Given the description of an element on the screen output the (x, y) to click on. 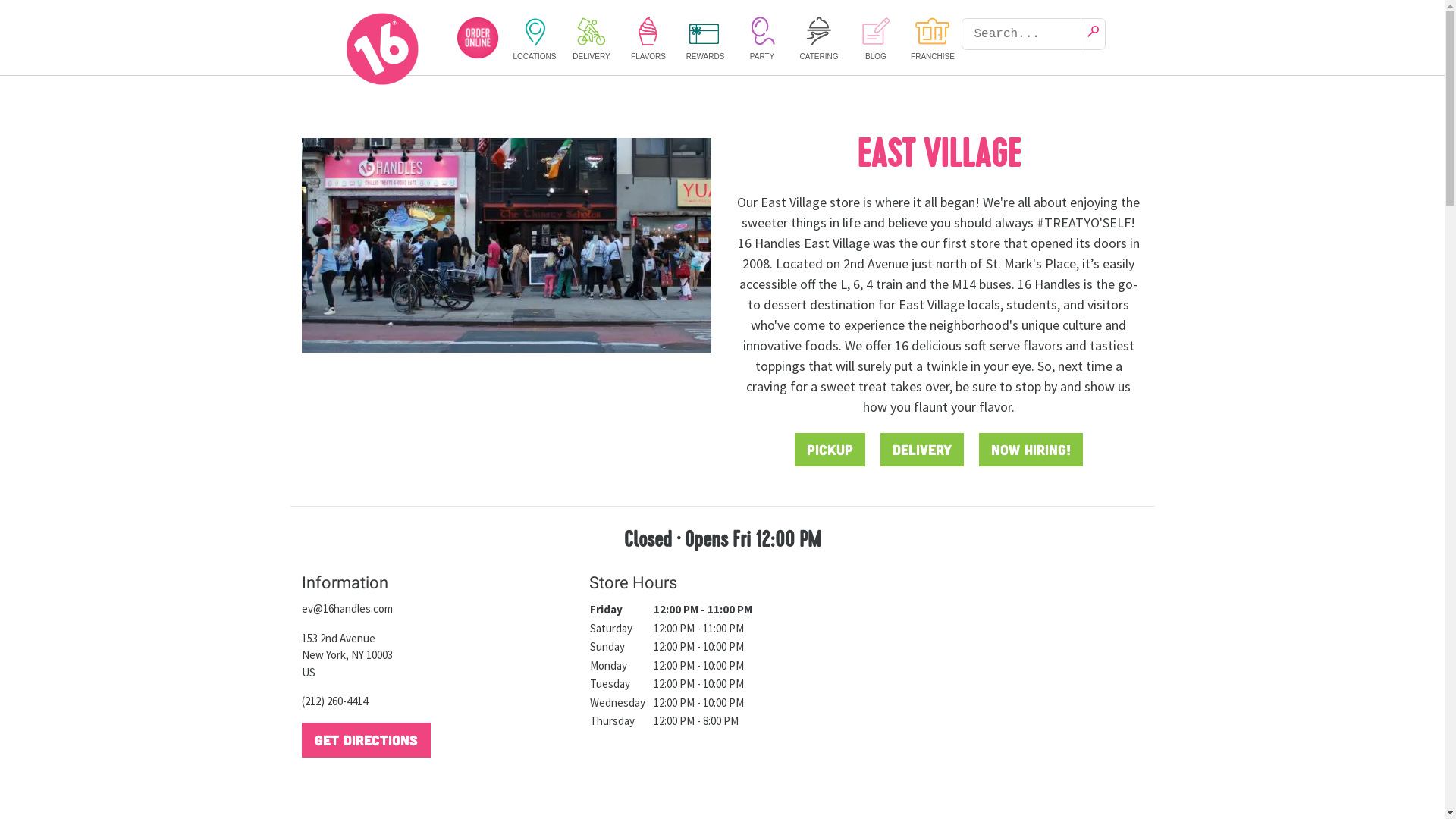
DELIVERY Element type: text (590, 37)
FRANCHISE Element type: text (931, 37)
Delivery Element type: text (921, 449)
CATERING Element type: text (818, 37)
Pickup Element type: text (829, 449)
FLAVORS Element type: text (648, 37)
REWARDS Element type: text (704, 37)
LOCATIONS Element type: text (534, 37)
Now Hiring! Element type: text (1030, 449)
BLOG Element type: text (875, 37)
PARTY Element type: text (762, 37)
Get Directions Element type: text (365, 739)
Link to main website Element type: text (382, 48)
Submit Element type: text (1092, 33)
